Given the description of an element on the screen output the (x, y) to click on. 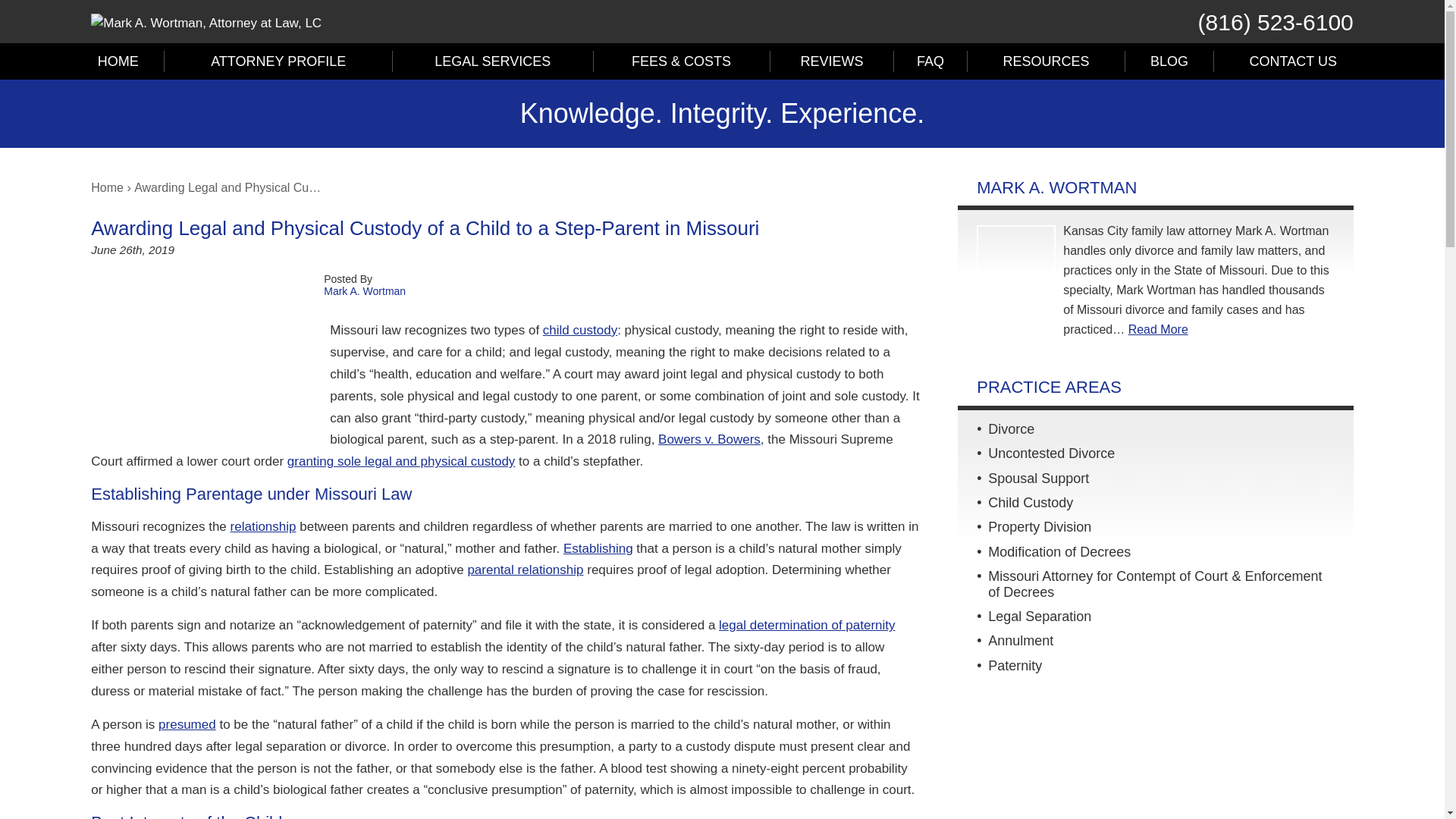
Read more about Modification of Decrees (1059, 551)
Read more about Divorce (1010, 428)
Read more about Child Custody (1030, 502)
Spousal Support (1038, 478)
REVIEWS (831, 61)
Divorce (1010, 428)
Read more about Uncontested Divorce (1051, 453)
LEGAL SERVICES (492, 61)
Read more about Property Division (1039, 526)
presumed (186, 724)
